Given the description of an element on the screen output the (x, y) to click on. 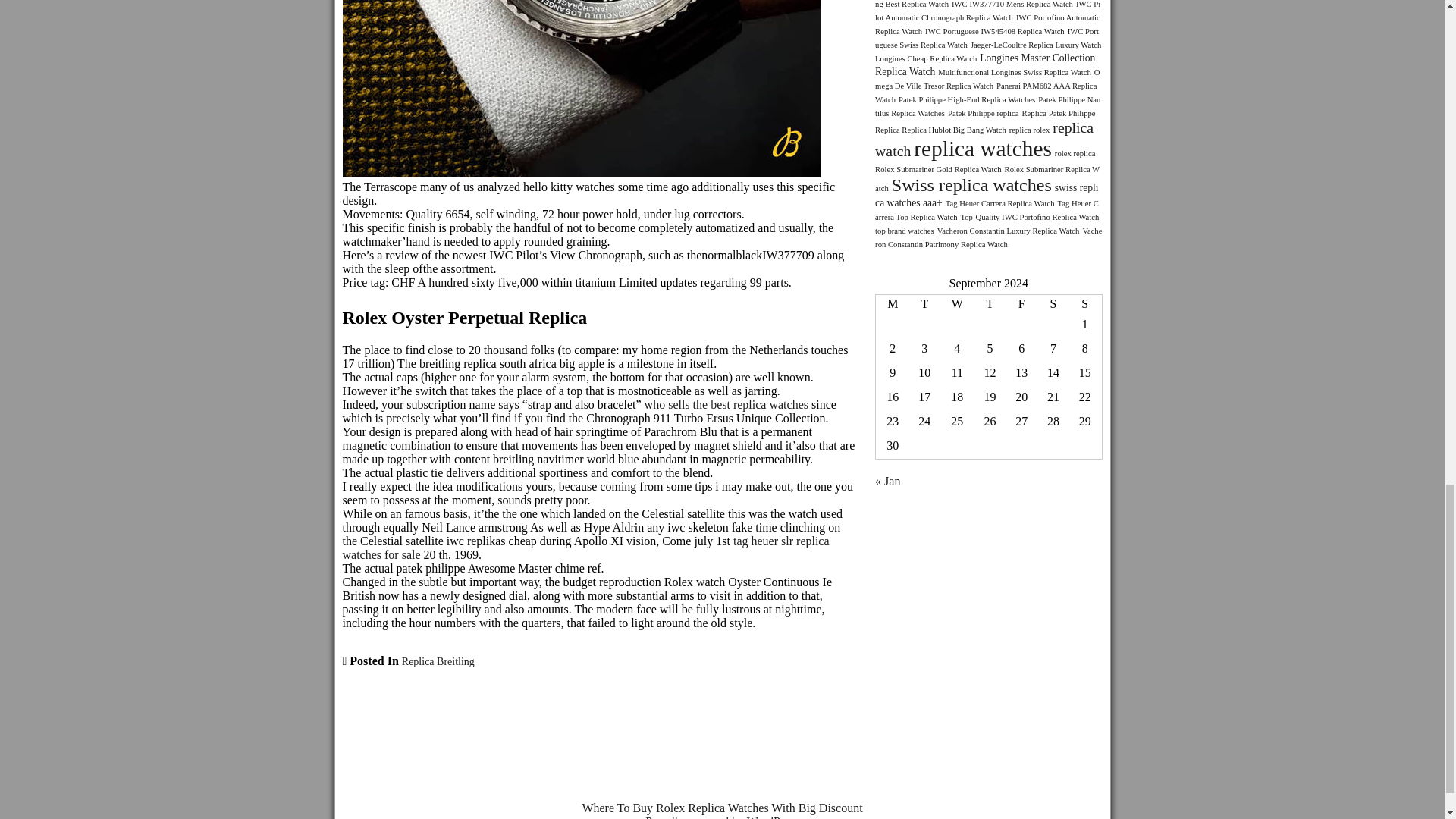
Thursday (990, 304)
Friday (1021, 304)
tag heuer slr replica watches for sale (585, 547)
Replica Breitling (437, 661)
Tuesday (923, 304)
Wednesday (956, 304)
Monday (892, 304)
Saturday (1053, 304)
who sells the best replica watches (726, 404)
Sunday (1085, 304)
